Given the description of an element on the screen output the (x, y) to click on. 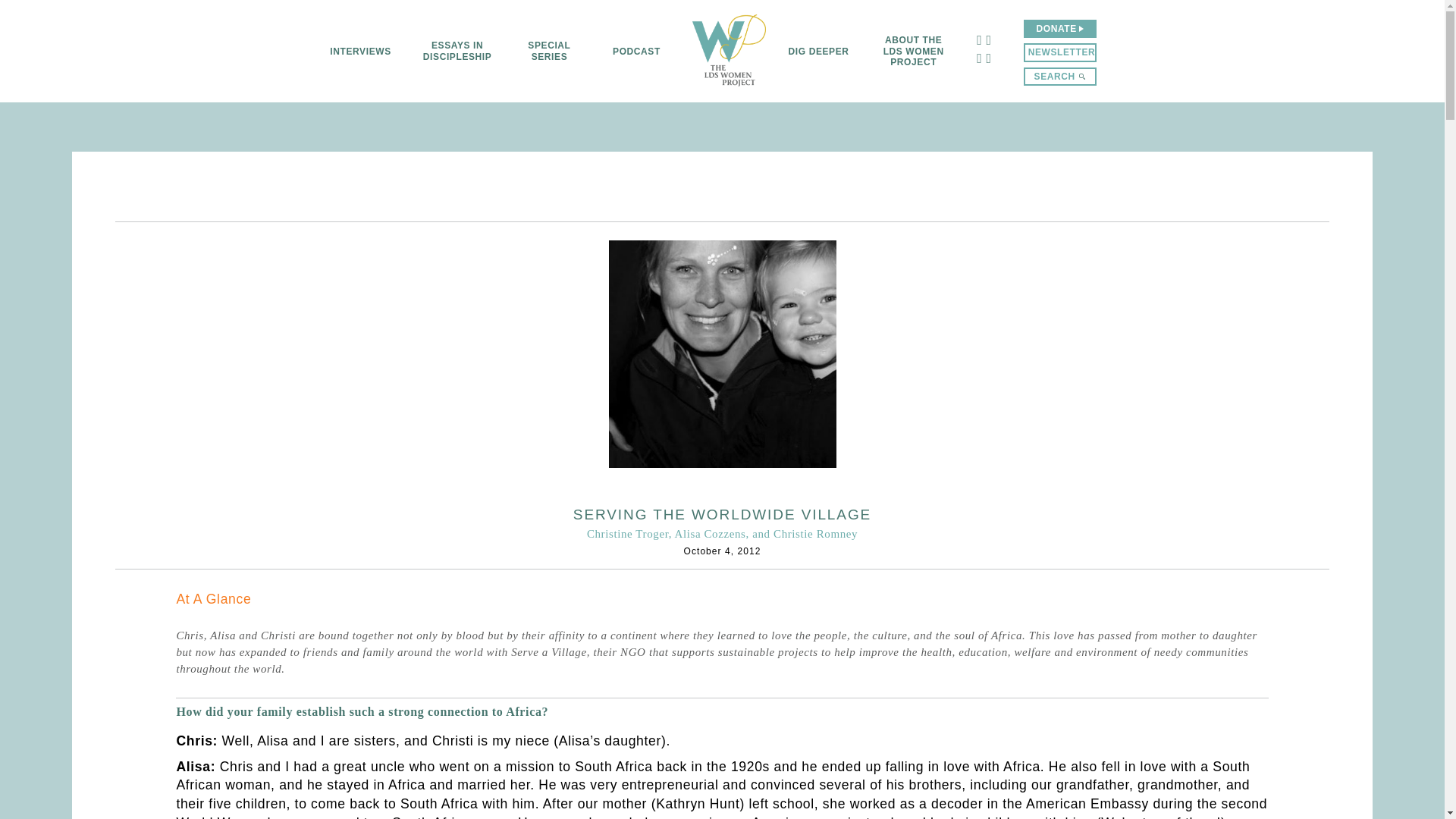
ABOUT THE LDS WOMEN PROJECT (913, 51)
NEWSLETTER (1059, 52)
INTERVIEWS (360, 50)
ESSAYS IN DISCIPLESHIP (457, 51)
DONATE (1059, 28)
SEARCH (1059, 76)
SPECIAL SERIES (549, 51)
SERVING THE WORLDWIDE VILLAGE (721, 514)
DIG DEEPER (818, 50)
PODCAST (636, 50)
